Given the description of an element on the screen output the (x, y) to click on. 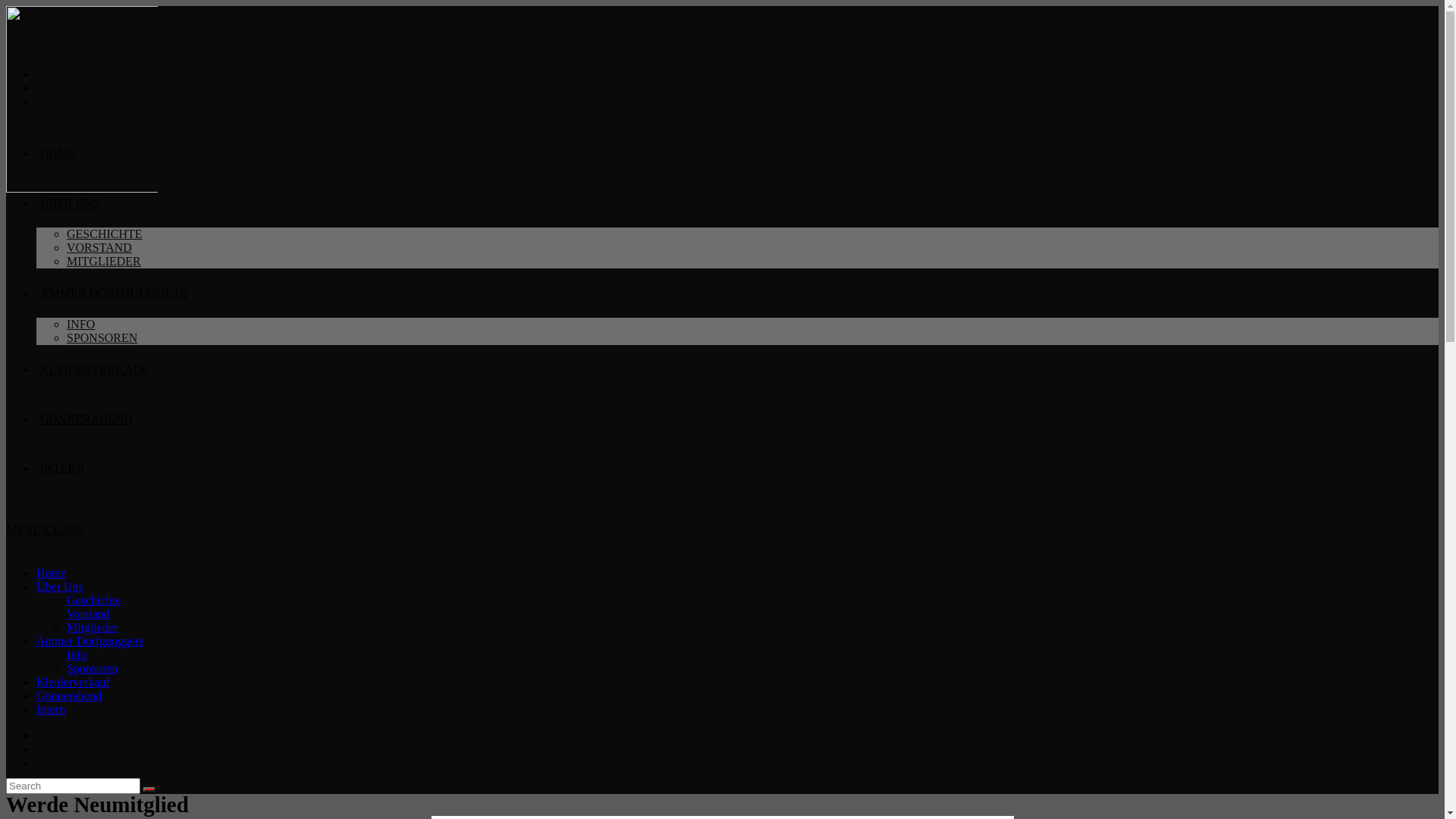
MITGLIEDER Element type: text (103, 260)
Vorstand Element type: text (87, 613)
Kleiderverkauf Element type: text (72, 681)
INFO Element type: text (80, 323)
Skip to content Element type: text (5, 5)
MENU CLOSE Element type: text (44, 529)
Home Element type: text (50, 572)
Info Element type: text (76, 654)
VORSTAND Element type: text (98, 247)
GESCHICHTE Element type: text (104, 233)
HOME Element type: text (57, 153)
Intern Element type: text (50, 708)
SPONSOREN Element type: text (101, 337)
Mitglieder Element type: text (92, 627)
Sponsoren Element type: text (92, 668)
Geschichte Element type: text (93, 599)
INTERN Element type: text (62, 467)
KLEIDERVERKAUF Element type: text (94, 369)
